Given the description of an element on the screen output the (x, y) to click on. 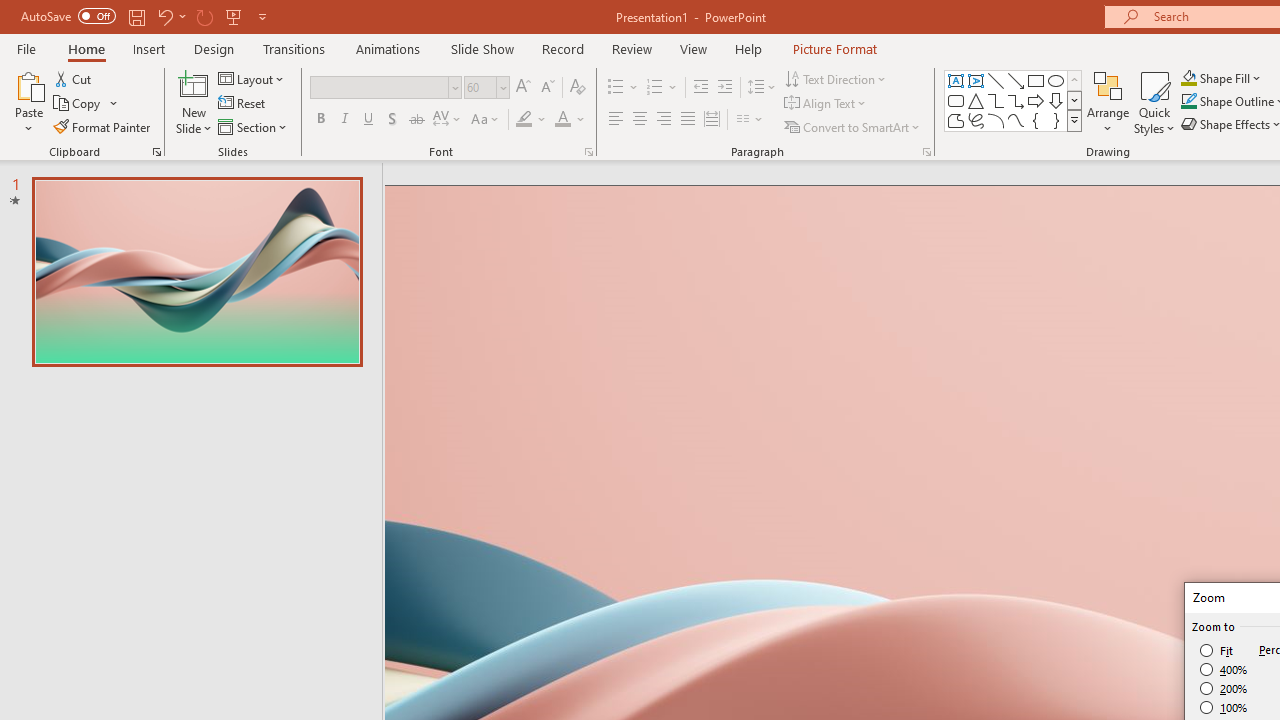
Shape Fill (1221, 78)
200% (1224, 688)
AutomationID: ShapesInsertGallery (1014, 100)
Bold (320, 119)
Decrease Indent (700, 87)
Quick Styles (1154, 102)
Row Down (1074, 100)
Align Text (826, 103)
Line Arrow (1016, 80)
Distributed (712, 119)
Oval (1055, 80)
Curve (1016, 120)
Arrange (1108, 102)
